Given the description of an element on the screen output the (x, y) to click on. 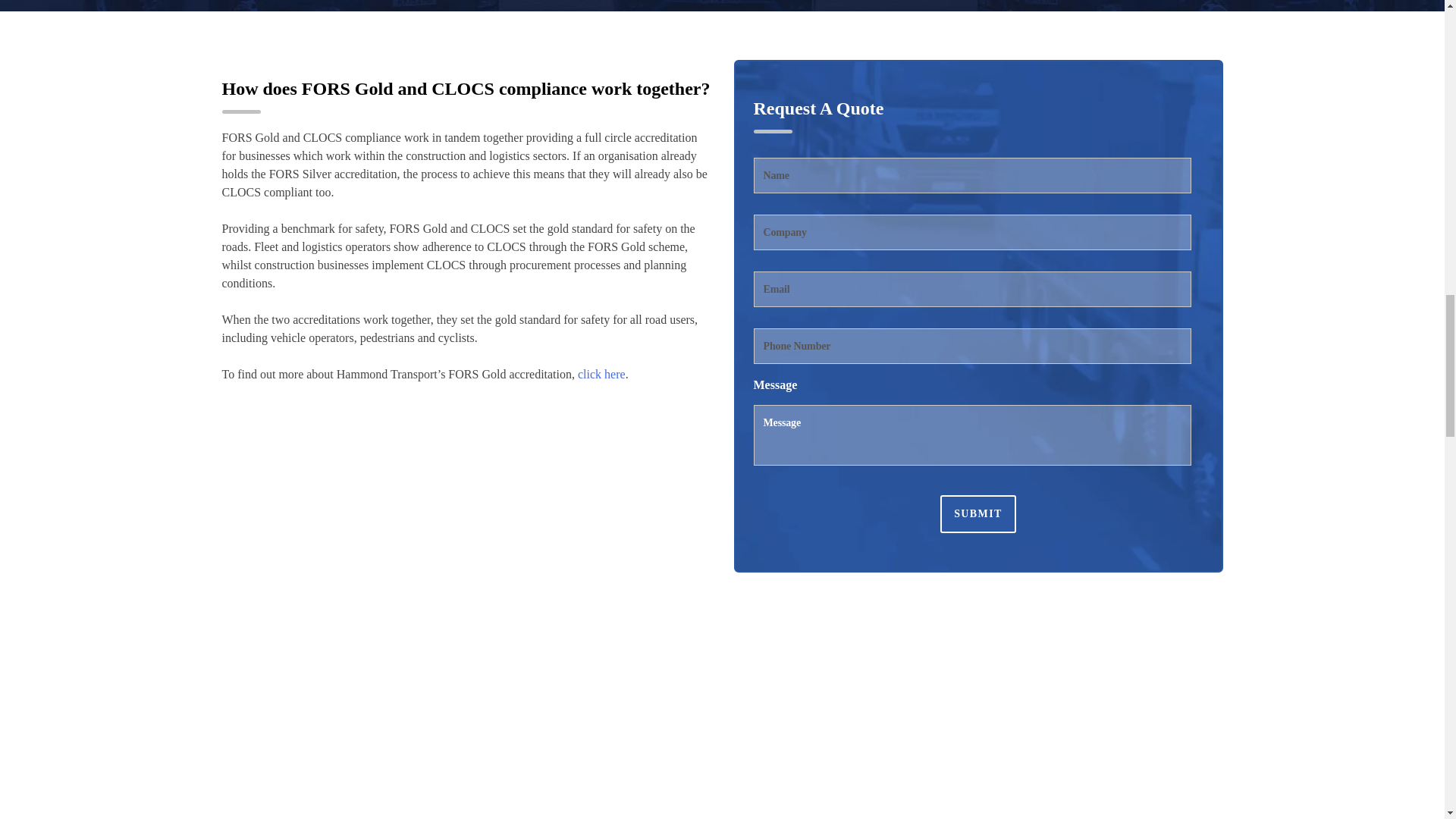
Submit (978, 514)
